Given the description of an element on the screen output the (x, y) to click on. 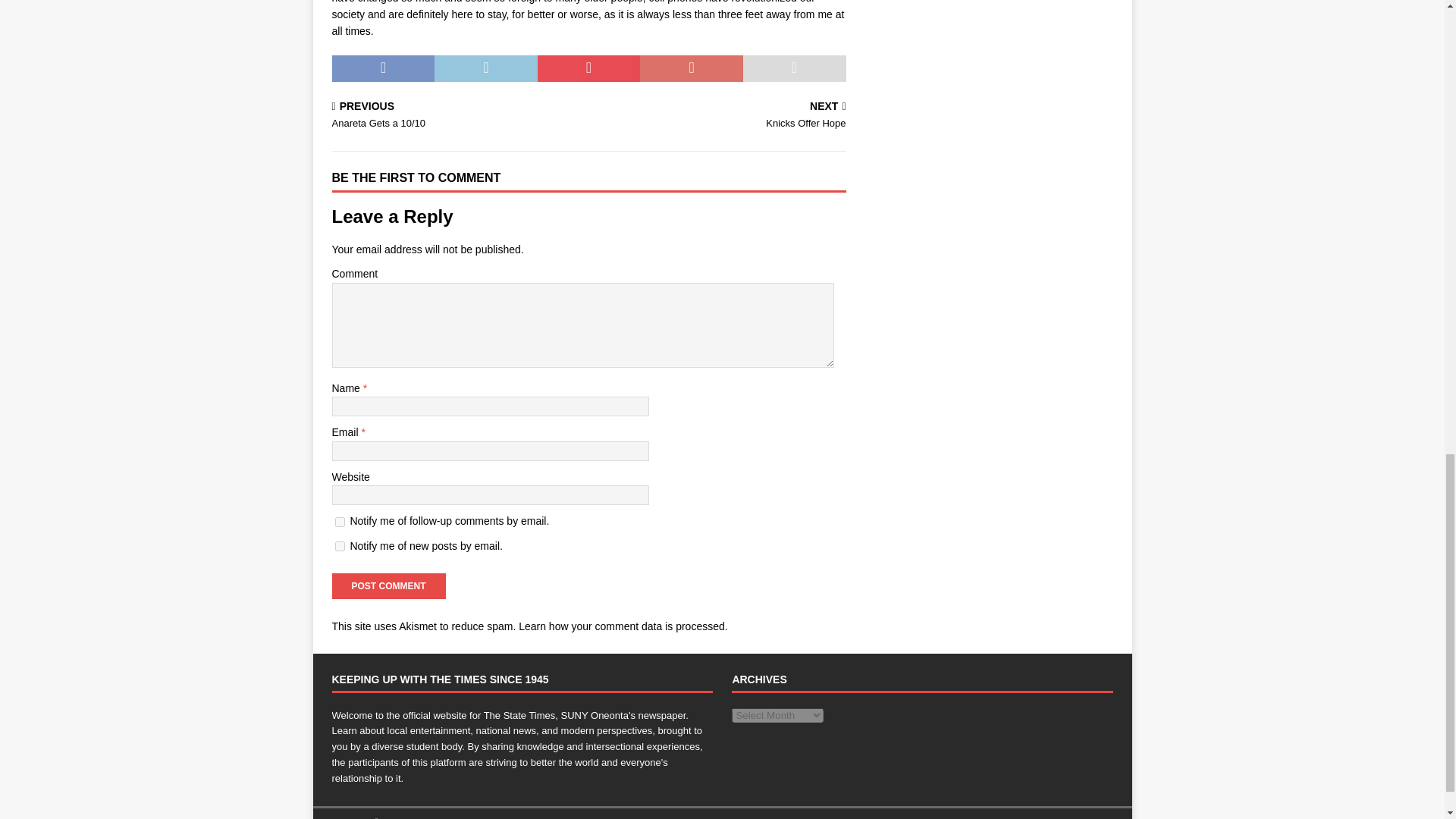
subscribe (339, 546)
subscribe (339, 521)
Post Comment (388, 585)
